Given the description of an element on the screen output the (x, y) to click on. 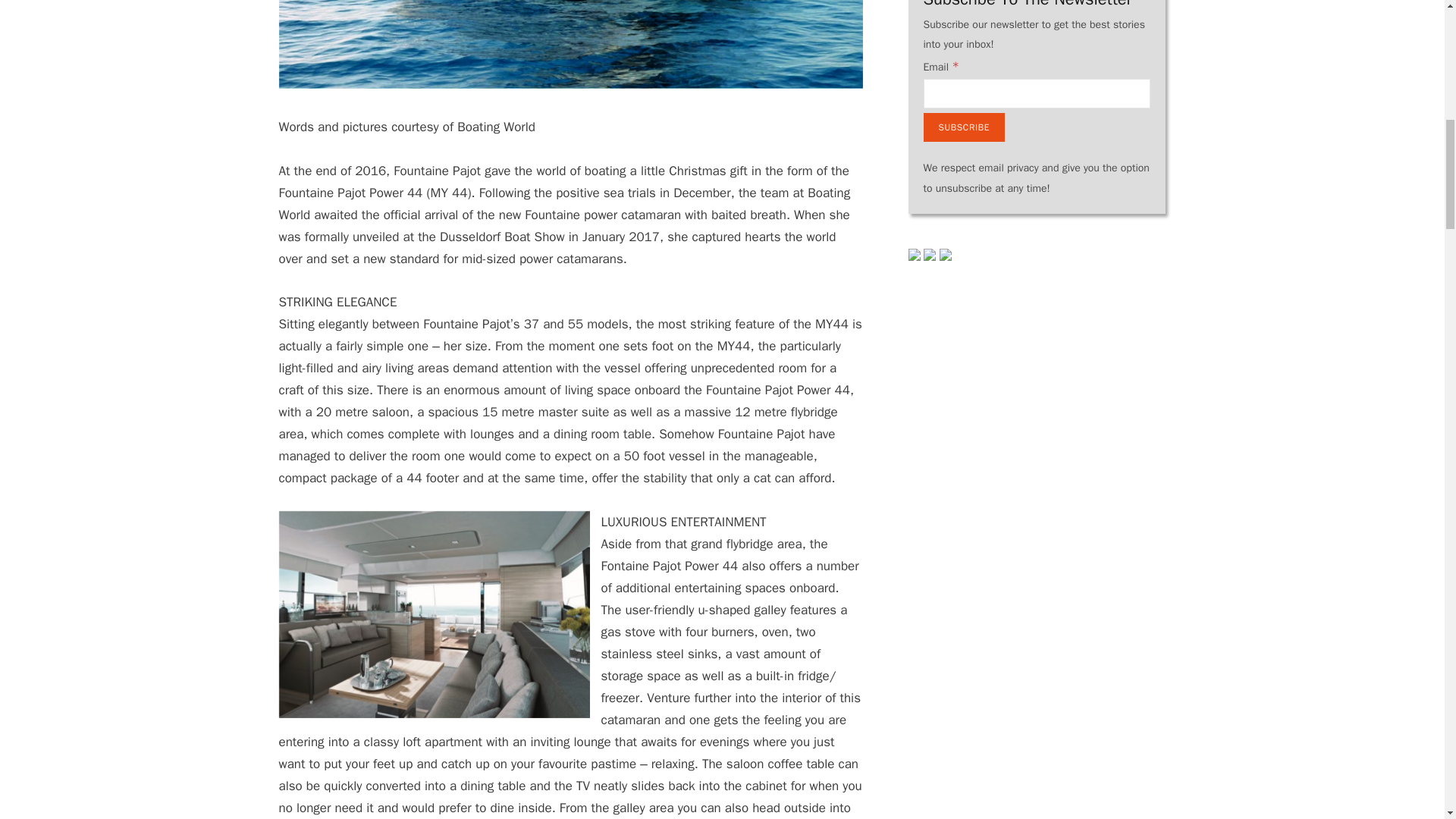
Fountaine Pajot MY44 (571, 44)
Subscribe (964, 127)
Fountaine Pajot MY44 (440, 614)
